Given the description of an element on the screen output the (x, y) to click on. 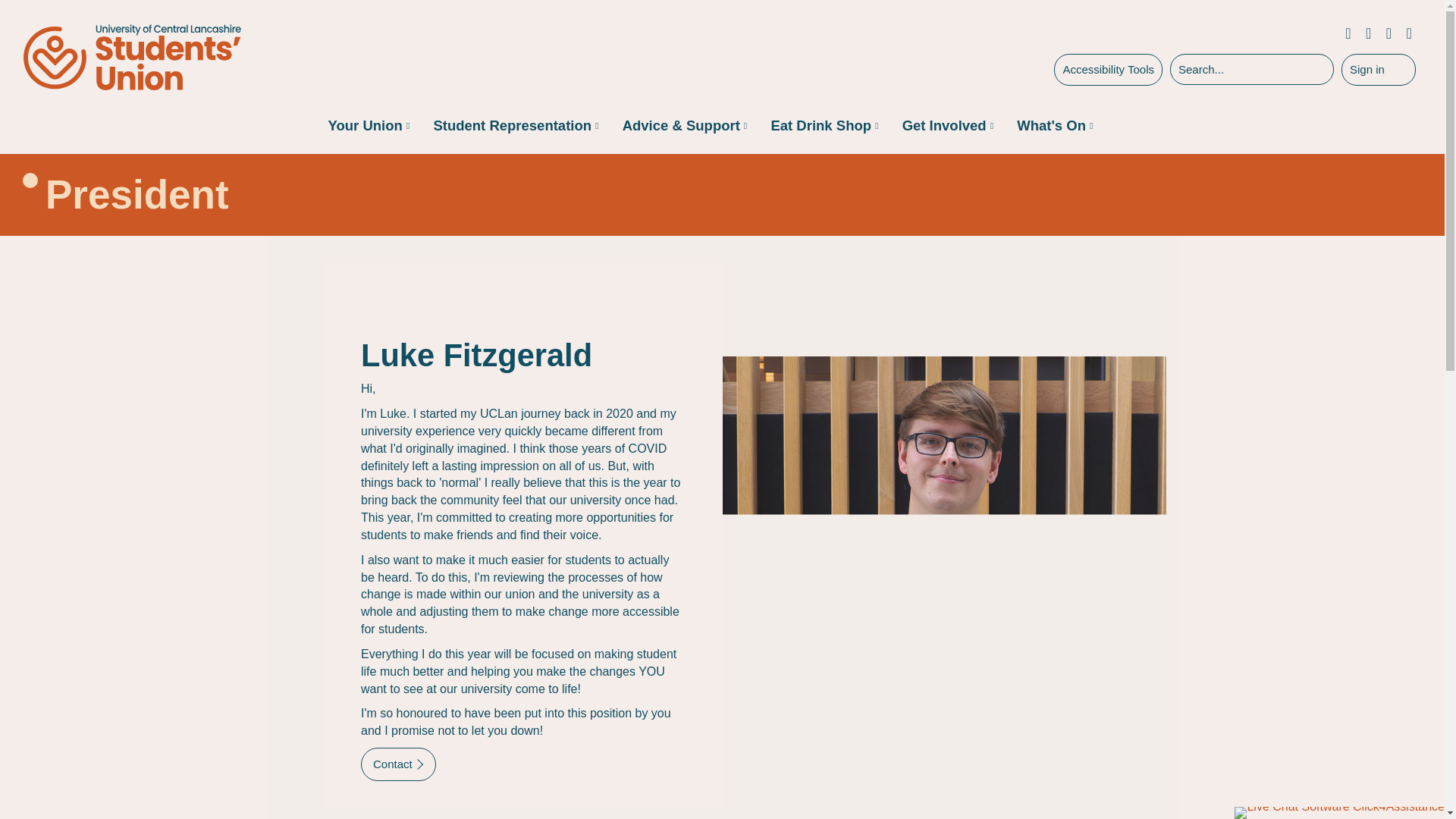
Eat Drink Shop (820, 125)
Accessibility Tools (1107, 69)
Search (1310, 69)
Student Representation (511, 125)
Sign in (1377, 69)
Search (1310, 69)
Your Union (364, 125)
